Given the description of an element on the screen output the (x, y) to click on. 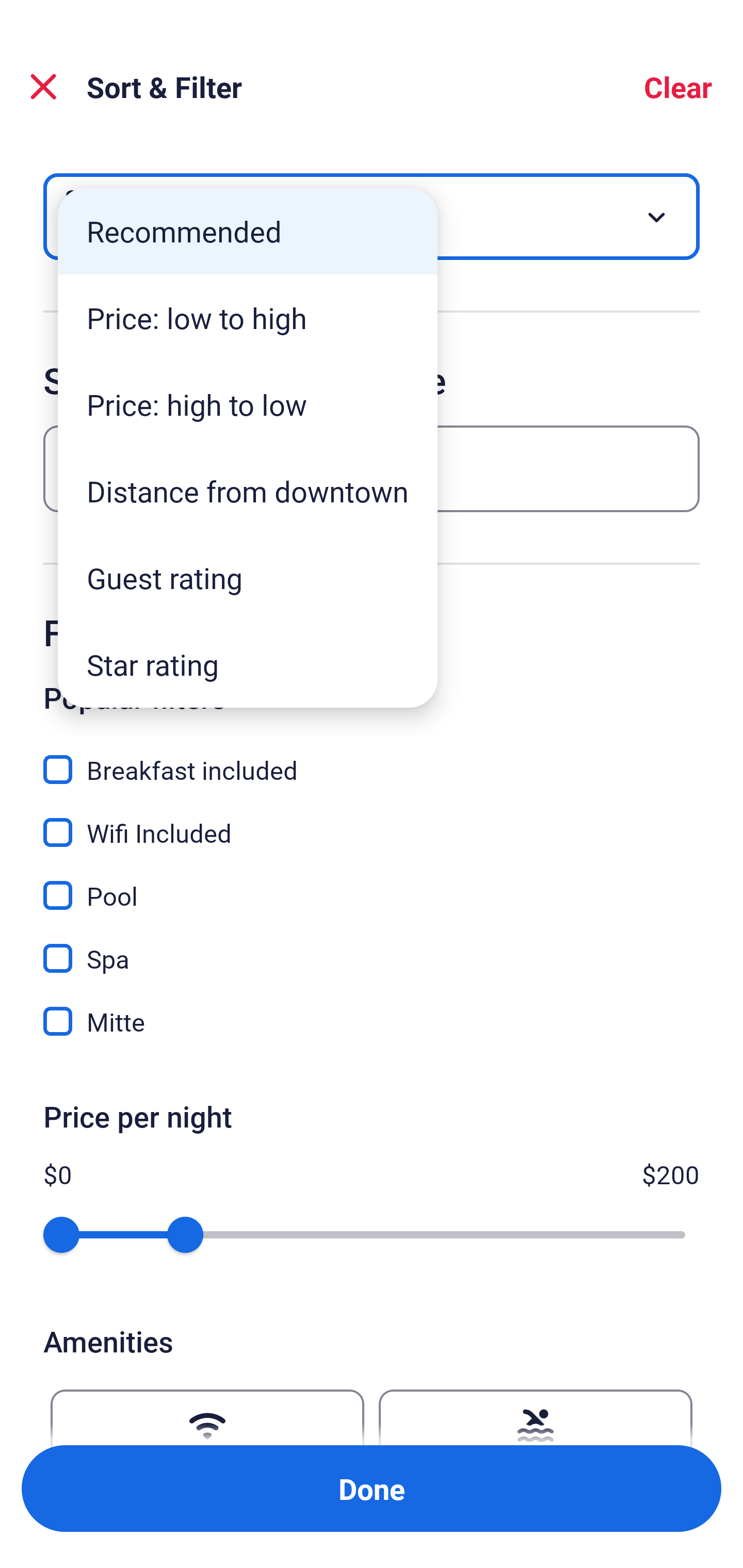
Price: low to high (247, 317)
Price: high to low (247, 404)
Distance from downtown (247, 491)
Guest rating (247, 577)
Star rating (247, 663)
